Given the description of an element on the screen output the (x, y) to click on. 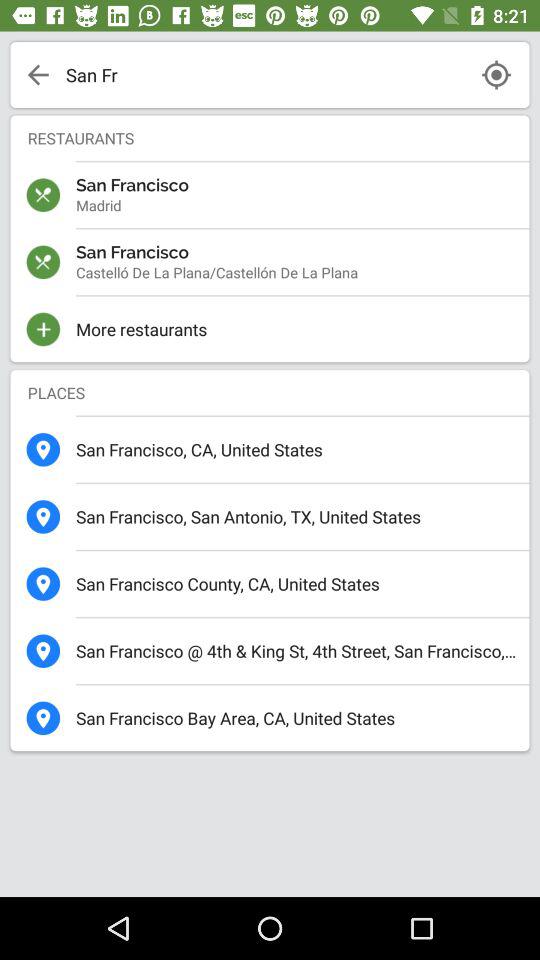
turn off icon above restaurants item (264, 74)
